Given the description of an element on the screen output the (x, y) to click on. 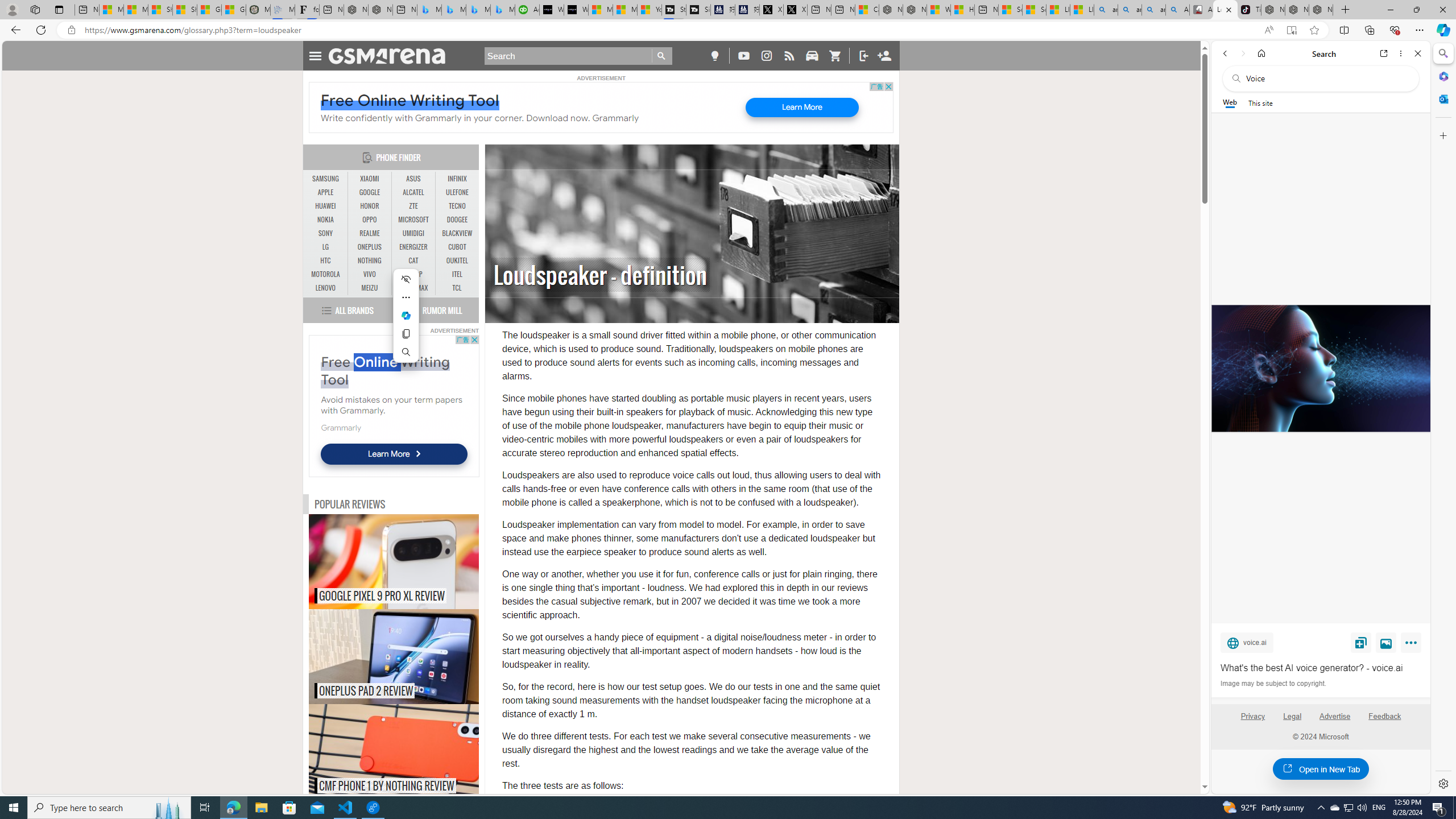
Avoid mistakes on your term papers with Grammarly. (391, 404)
Learn More (393, 453)
What's the best AI voice generator? - voice.ai (1320, 368)
ITEL (457, 273)
Side bar (1443, 418)
ALCATEL (413, 192)
Settings (1442, 783)
MICROSOFT (413, 219)
VIVO (369, 273)
Feedback (1384, 715)
TCL (457, 287)
Nordace - #1 Japanese Best-Seller - Siena Smart Backpack (380, 9)
Privacy (1252, 720)
